Given the description of an element on the screen output the (x, y) to click on. 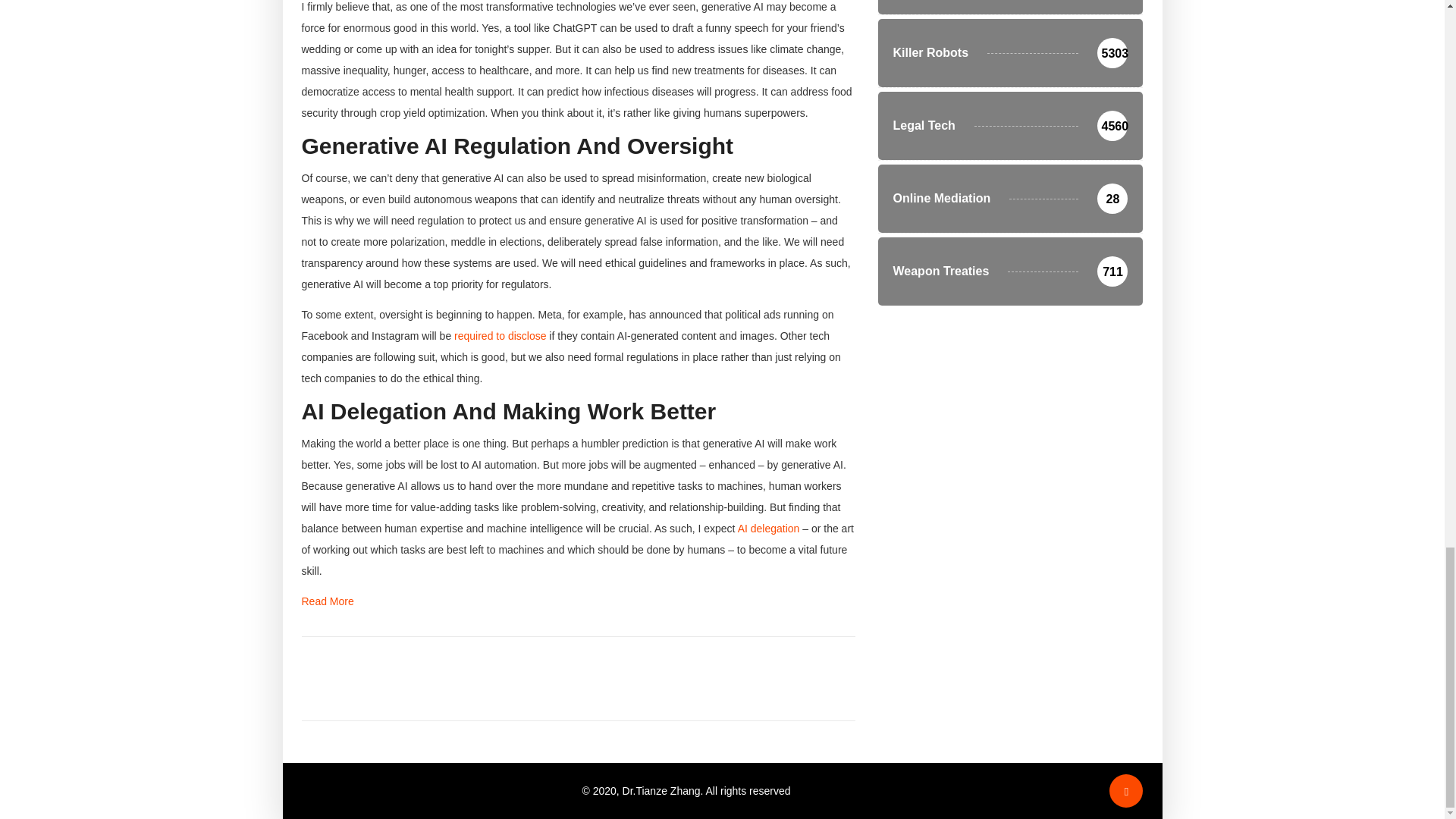
required to disclose (500, 336)
Read More (327, 601)
AI delegation (768, 528)
